Given the description of an element on the screen output the (x, y) to click on. 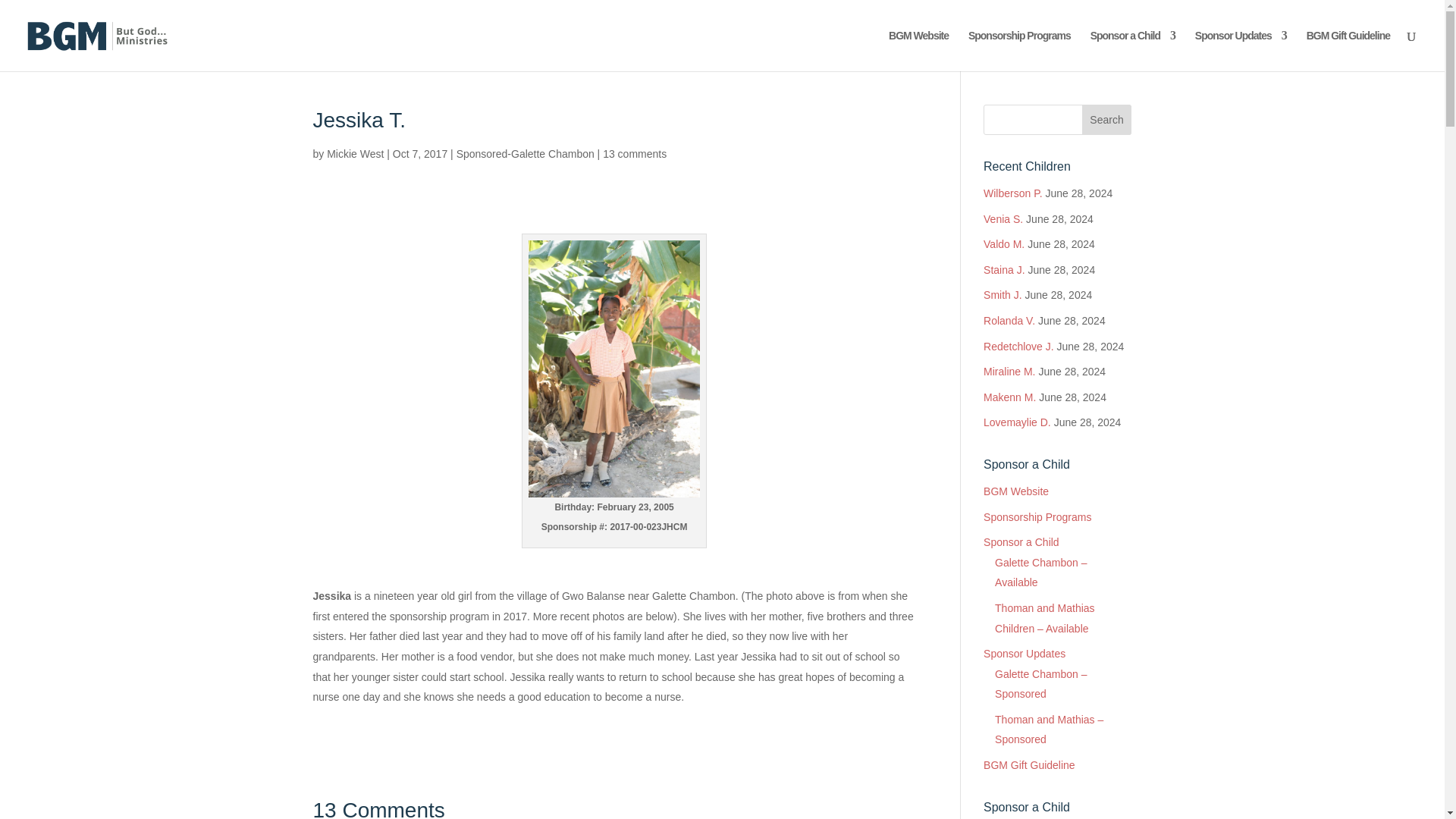
BGM Website (918, 50)
Sponsored-Galette Chambon (525, 153)
13 comments (634, 153)
Sponsor a Child (1132, 50)
Search (1106, 119)
Sponsorship Programs (1019, 50)
Venia S. (1003, 218)
Valdo M. (1004, 244)
BGM Gift Guideline (1348, 50)
Mickie West (355, 153)
Posts by Mickie West (355, 153)
Sponsor Updates (1241, 50)
Search (1106, 119)
Wilberson P. (1013, 193)
